Given the description of an element on the screen output the (x, y) to click on. 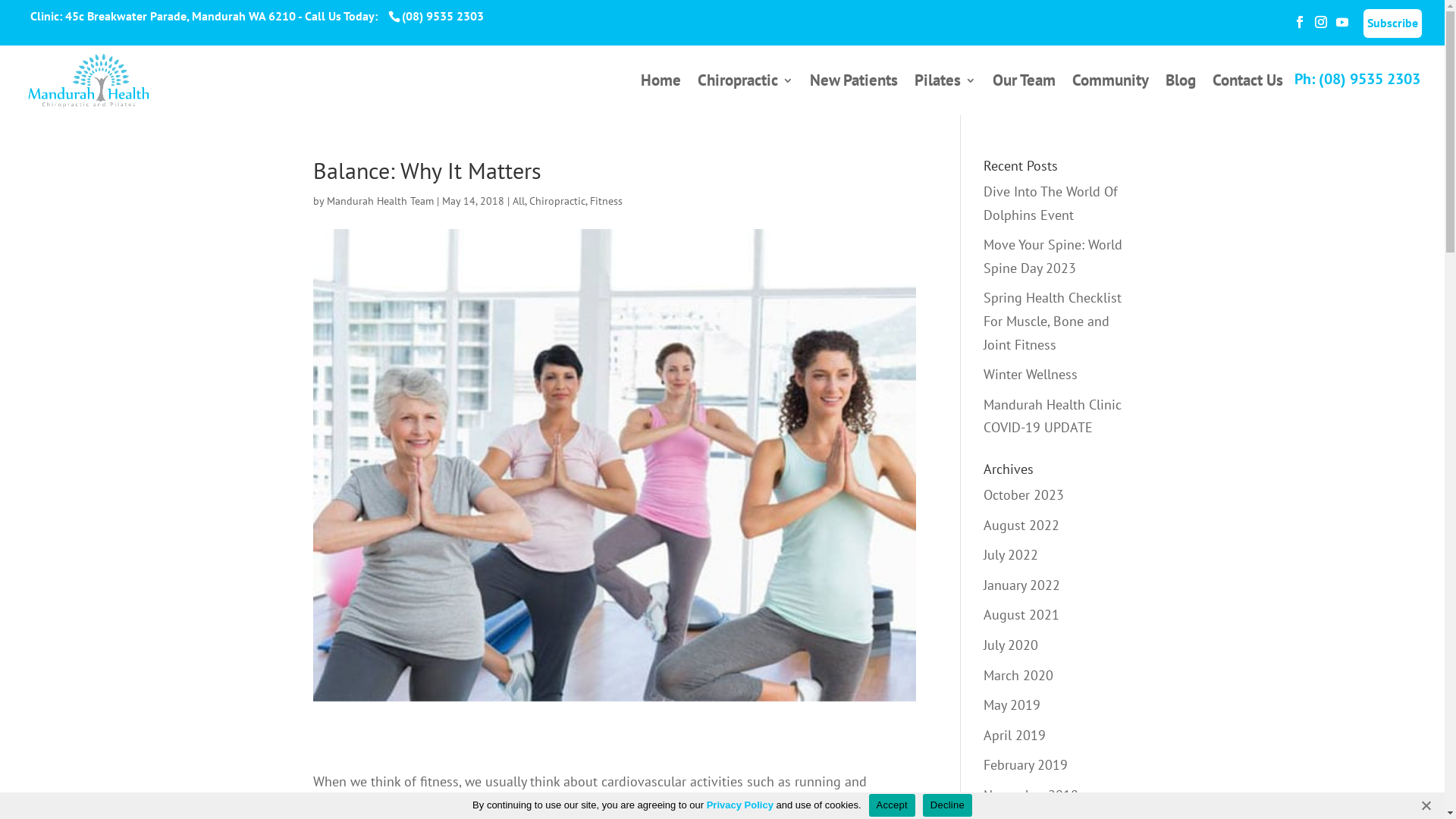
Our Team Element type: text (1023, 95)
Privacy Policy Element type: text (739, 804)
August 2022 Element type: text (1021, 524)
Community Element type: text (1110, 95)
Mandurah Health Clinic COVID-19 UPDATE Element type: text (1052, 415)
Contact Us Element type: text (1247, 95)
March 2020 Element type: text (1018, 674)
November 2018 Element type: text (1030, 794)
Mandurah Health Team Element type: text (379, 200)
Decline Element type: hover (1425, 804)
April 2019 Element type: text (1014, 734)
August 2021 Element type: text (1021, 614)
Pilates Element type: text (944, 95)
Dive Into The World Of Dolphins Event Element type: text (1050, 202)
Chiropractic Element type: text (557, 200)
July 2020 Element type: text (1010, 644)
Winter Wellness Element type: text (1030, 373)
Fitness Element type: text (605, 200)
January 2022 Element type: text (1021, 584)
Blog Element type: text (1180, 95)
May 2019 Element type: text (1011, 704)
February 2019 Element type: text (1025, 764)
All Element type: text (518, 200)
Ph: (08) 9535 2303 Element type: text (1357, 78)
(08) 9535 2303 Element type: text (440, 15)
July 2022 Element type: text (1010, 554)
Accept Element type: text (892, 804)
October 2023 Element type: text (1023, 494)
Subscribe Element type: text (1392, 23)
Chiropractic Element type: text (745, 95)
Decline Element type: text (947, 804)
Spring Health Checklist For Muscle, Bone and Joint Fitness Element type: text (1052, 320)
New Patients Element type: text (853, 95)
Home Element type: text (660, 95)
Move Your Spine: World Spine Day 2023 Element type: text (1052, 255)
